Given the description of an element on the screen output the (x, y) to click on. 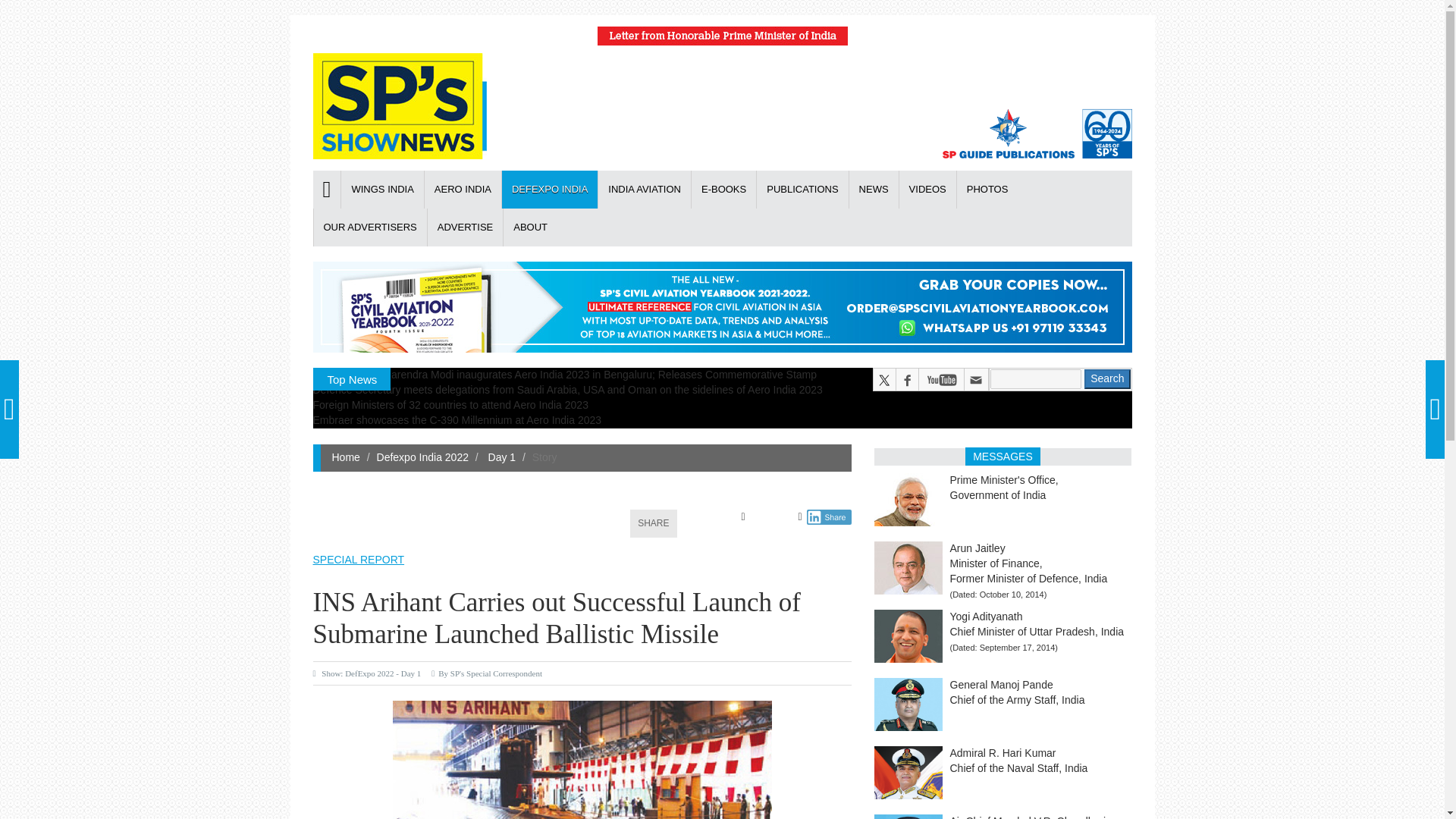
E-BOOKS (722, 189)
WINGS INDIA (381, 189)
DEFEXPO INDIA (548, 189)
INDIA AVIATION (643, 189)
Search (1106, 379)
AERO INDIA (461, 189)
